Given the description of an element on the screen output the (x, y) to click on. 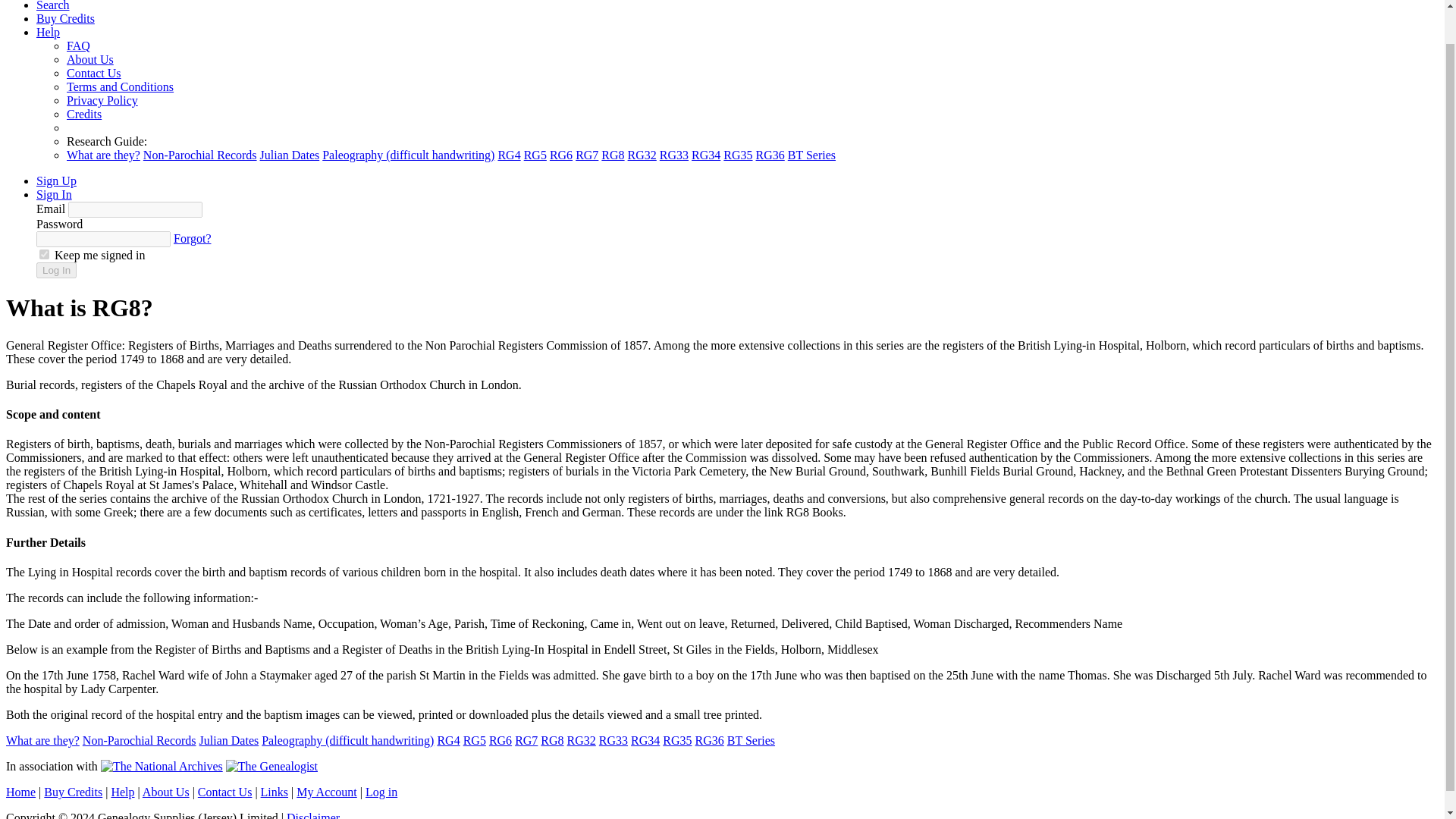
RG32 (641, 154)
Log In (56, 270)
BT Series (811, 154)
Privacy Policy (102, 100)
RG8 (551, 739)
RG33 (673, 154)
RG5 (474, 739)
Contact Us (93, 72)
RG34 (705, 154)
Log In (56, 270)
Terms and Conditions (119, 86)
Non-Parochial Records (199, 154)
FAQ (78, 45)
RG32 (581, 739)
Help (47, 31)
